Given the description of an element on the screen output the (x, y) to click on. 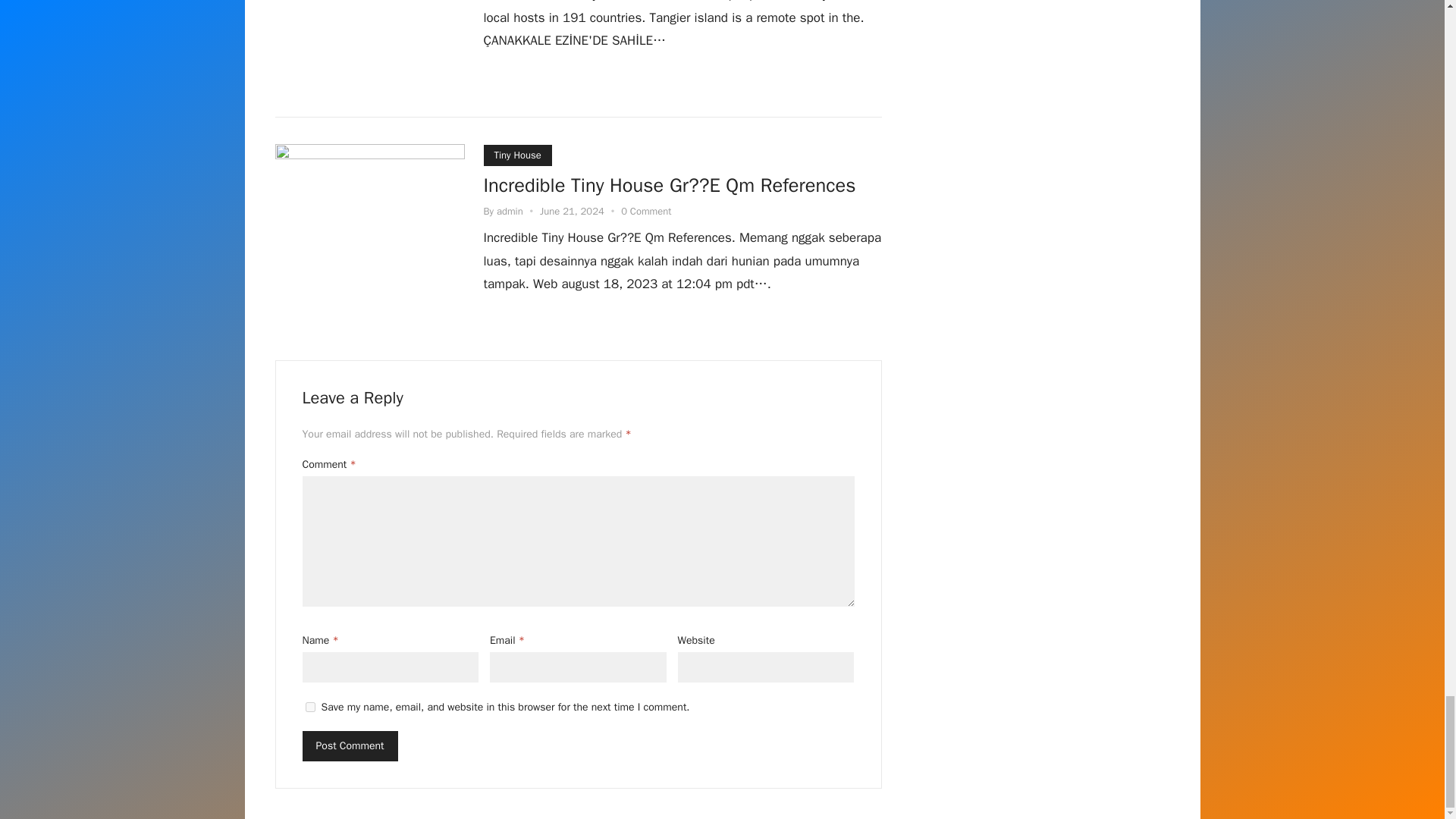
Posts by admin (509, 210)
Post Comment (349, 746)
yes (309, 706)
